Given the description of an element on the screen output the (x, y) to click on. 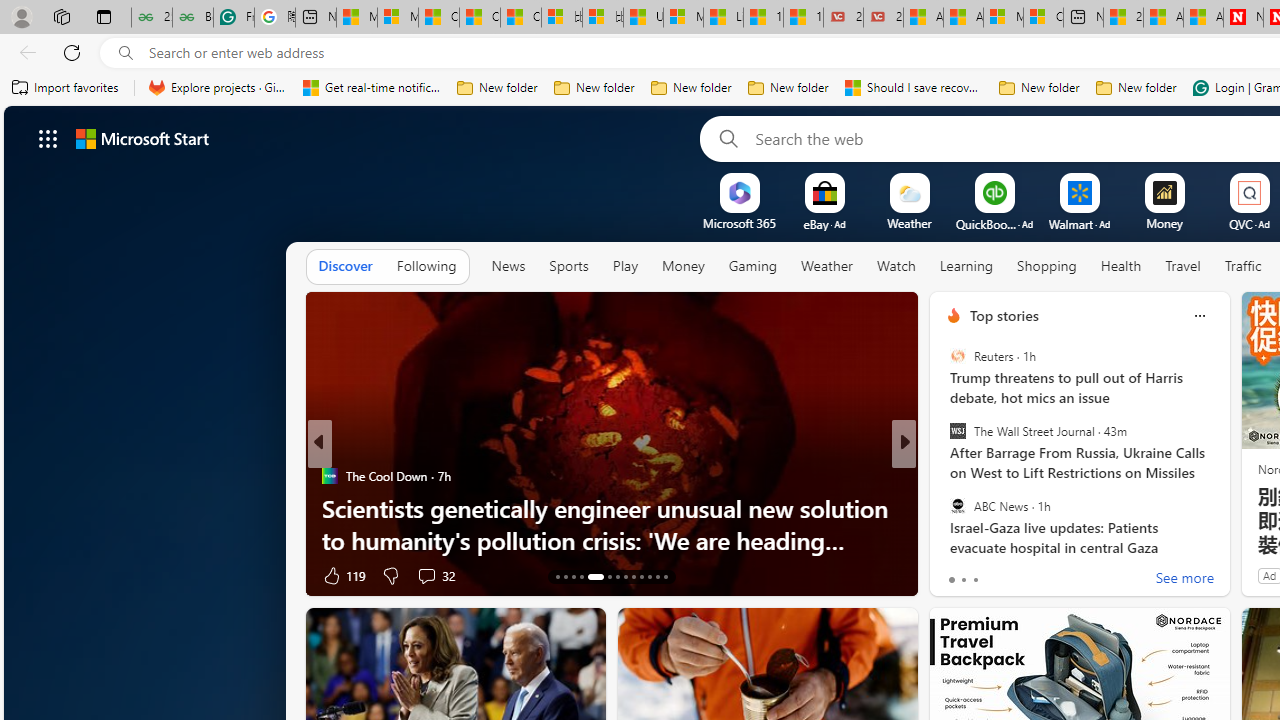
This story is trending (256, 579)
View comments 32 Comment (426, 575)
Search icon (125, 53)
Class: control (47, 138)
AutomationID: tab-13 (556, 576)
AutomationID: tab-19 (617, 576)
